Given the description of an element on the screen output the (x, y) to click on. 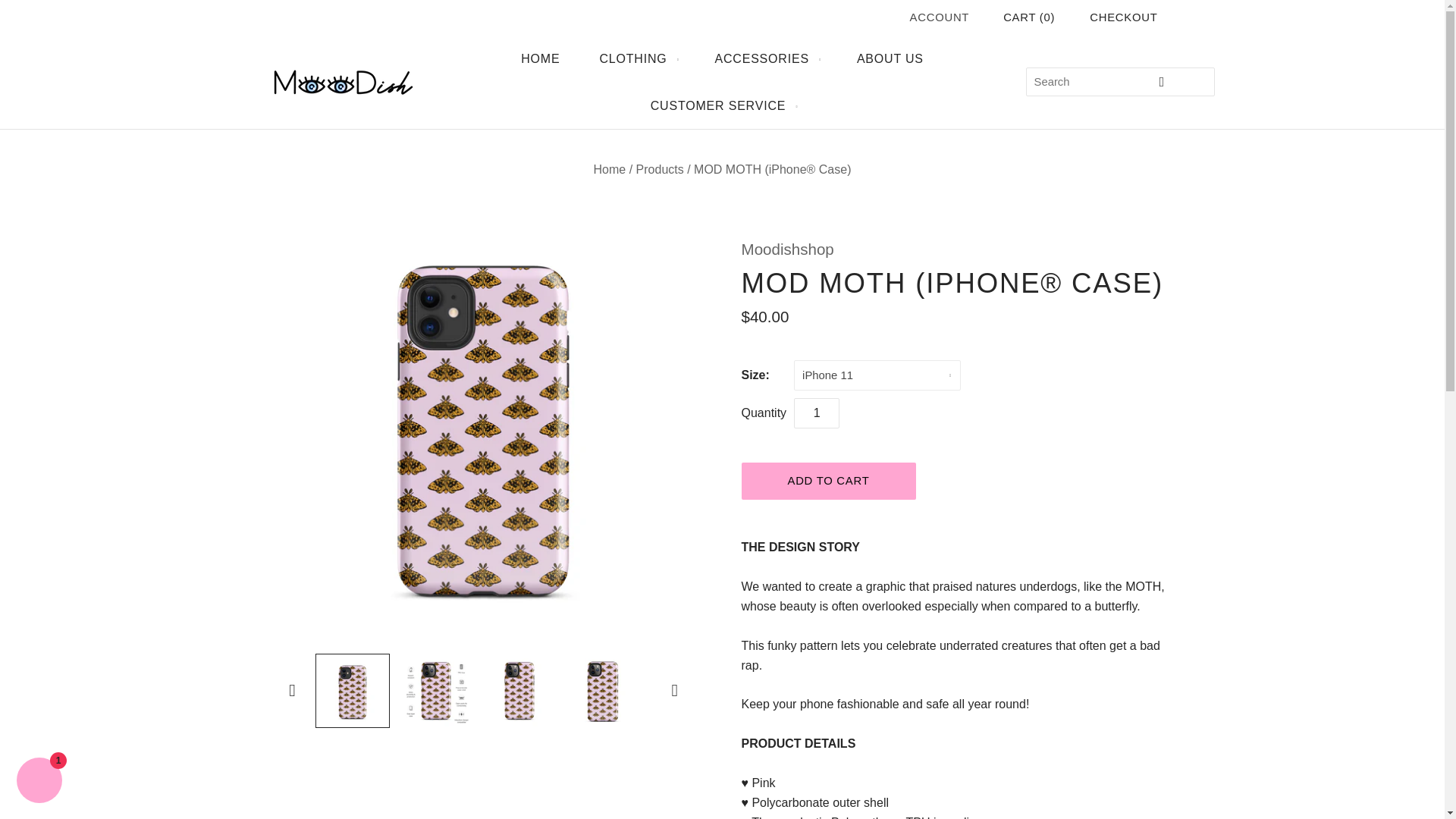
HOME (539, 59)
CLOTHING (636, 59)
Add to cart (828, 480)
Shopify online store chat (38, 781)
CHECKOUT (1122, 17)
1 (816, 413)
ACCESSORIES (764, 59)
ACCOUNT (939, 17)
